Given the description of an element on the screen output the (x, y) to click on. 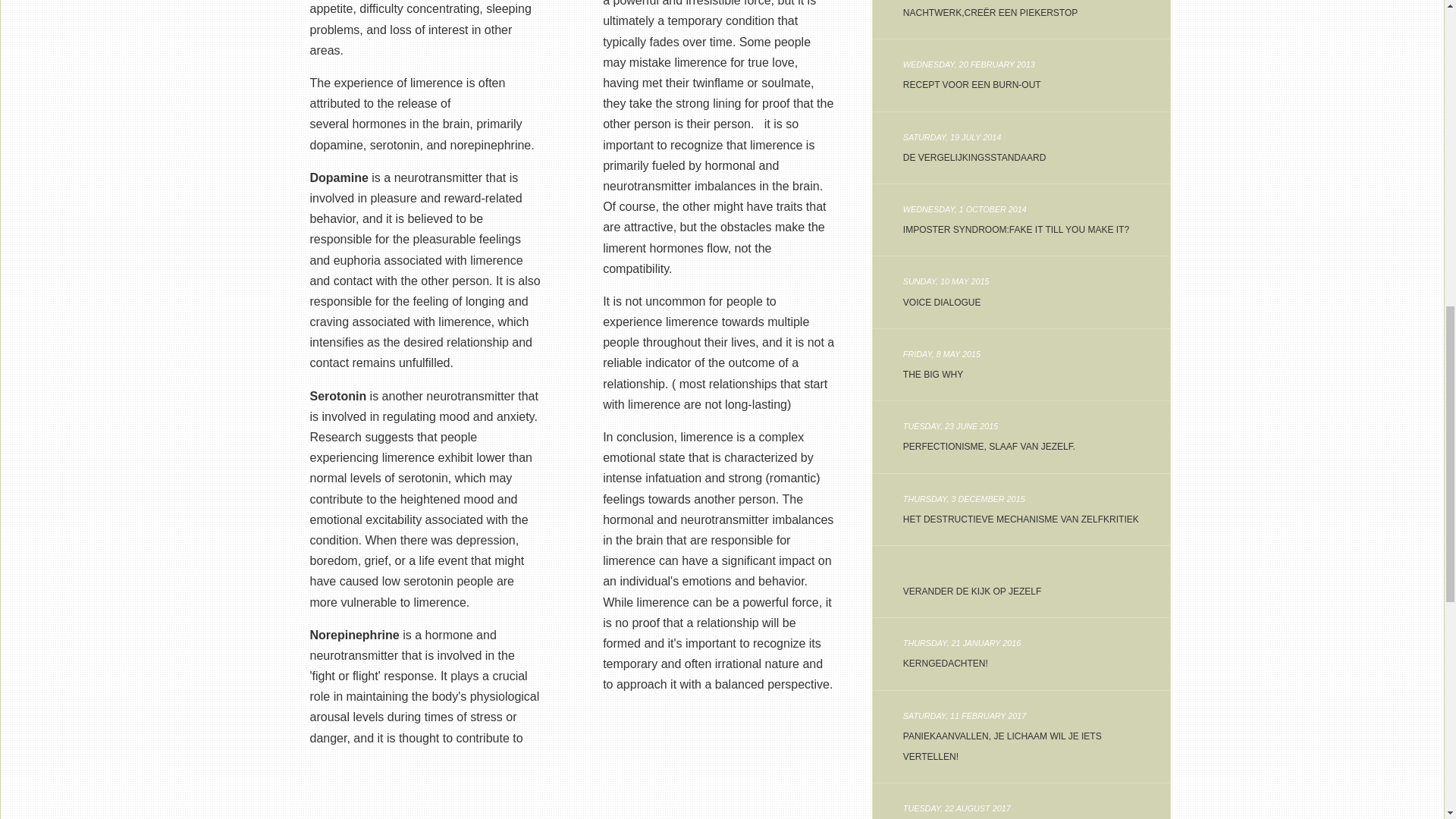
VERANDER DE KIJK OP JEZELF (1021, 147)
